Given the description of an element on the screen output the (x, y) to click on. 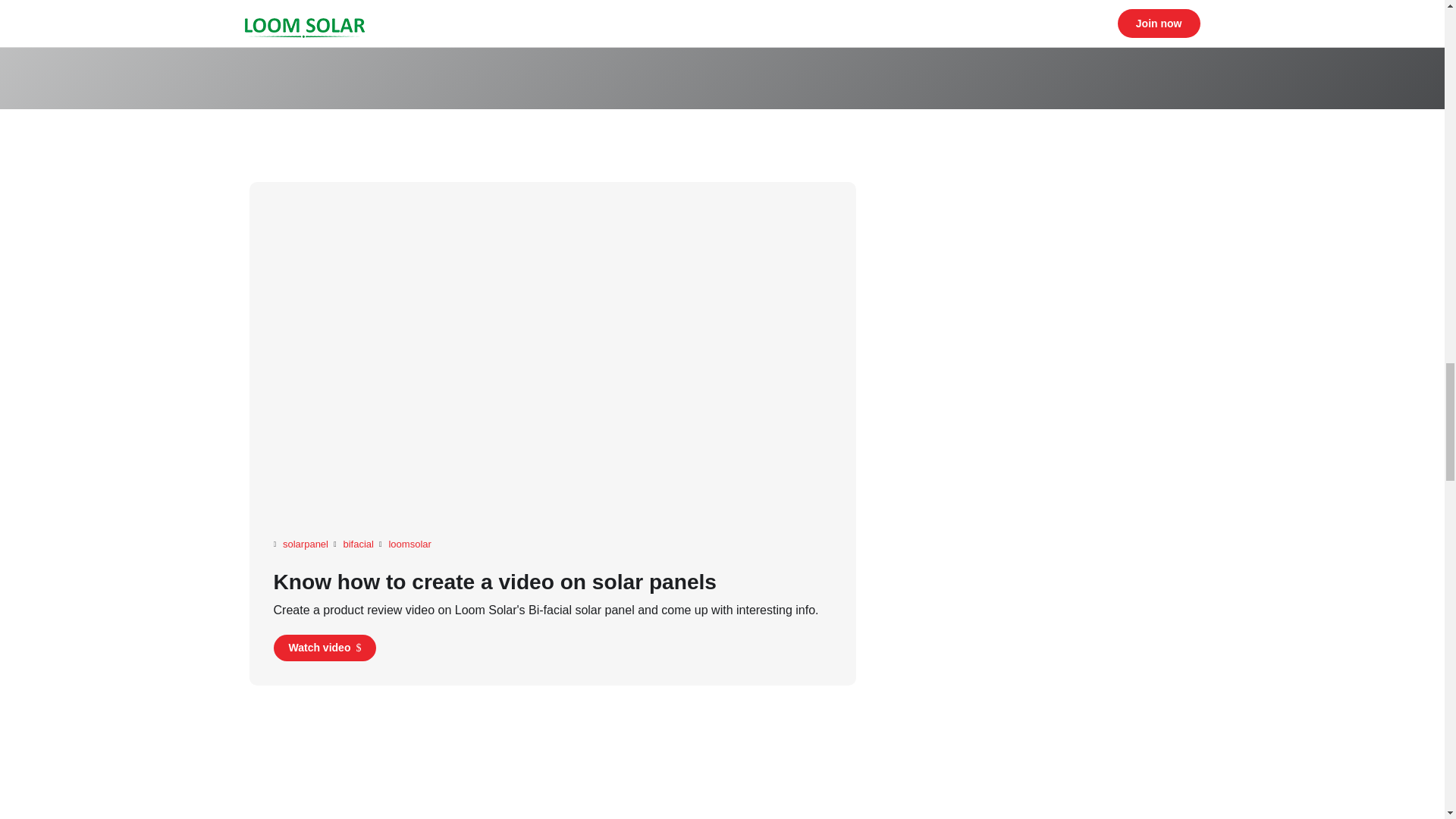
Watch video (324, 647)
